Given the description of an element on the screen output the (x, y) to click on. 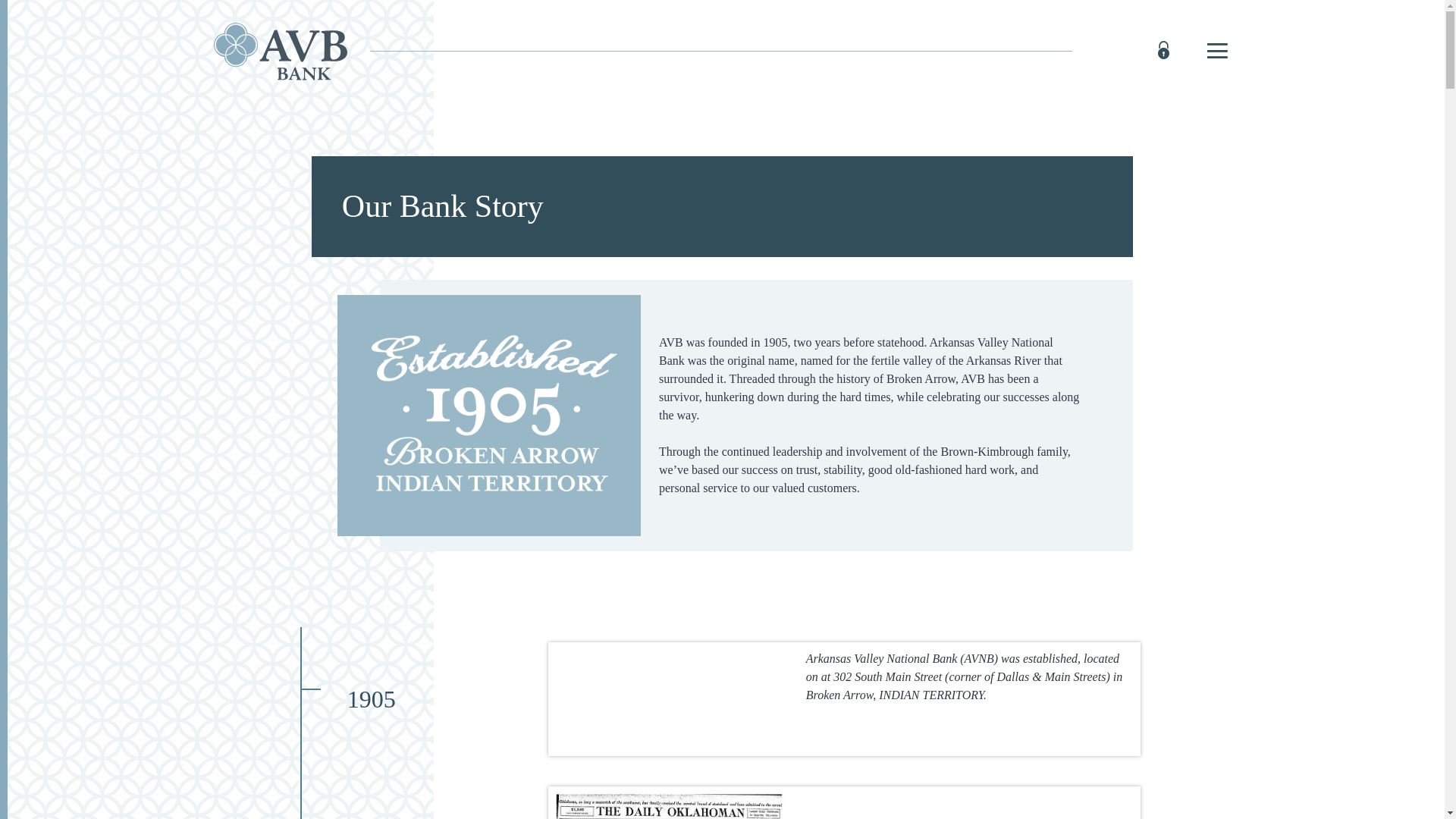
ONLINE BANKING
LOG IN Element type: text (1134, 51)
AVB Bank, Broken Arrow, OK Element type: hover (280, 51)
Toggle navigation Element type: text (1216, 51)
